Given the description of an element on the screen output the (x, y) to click on. 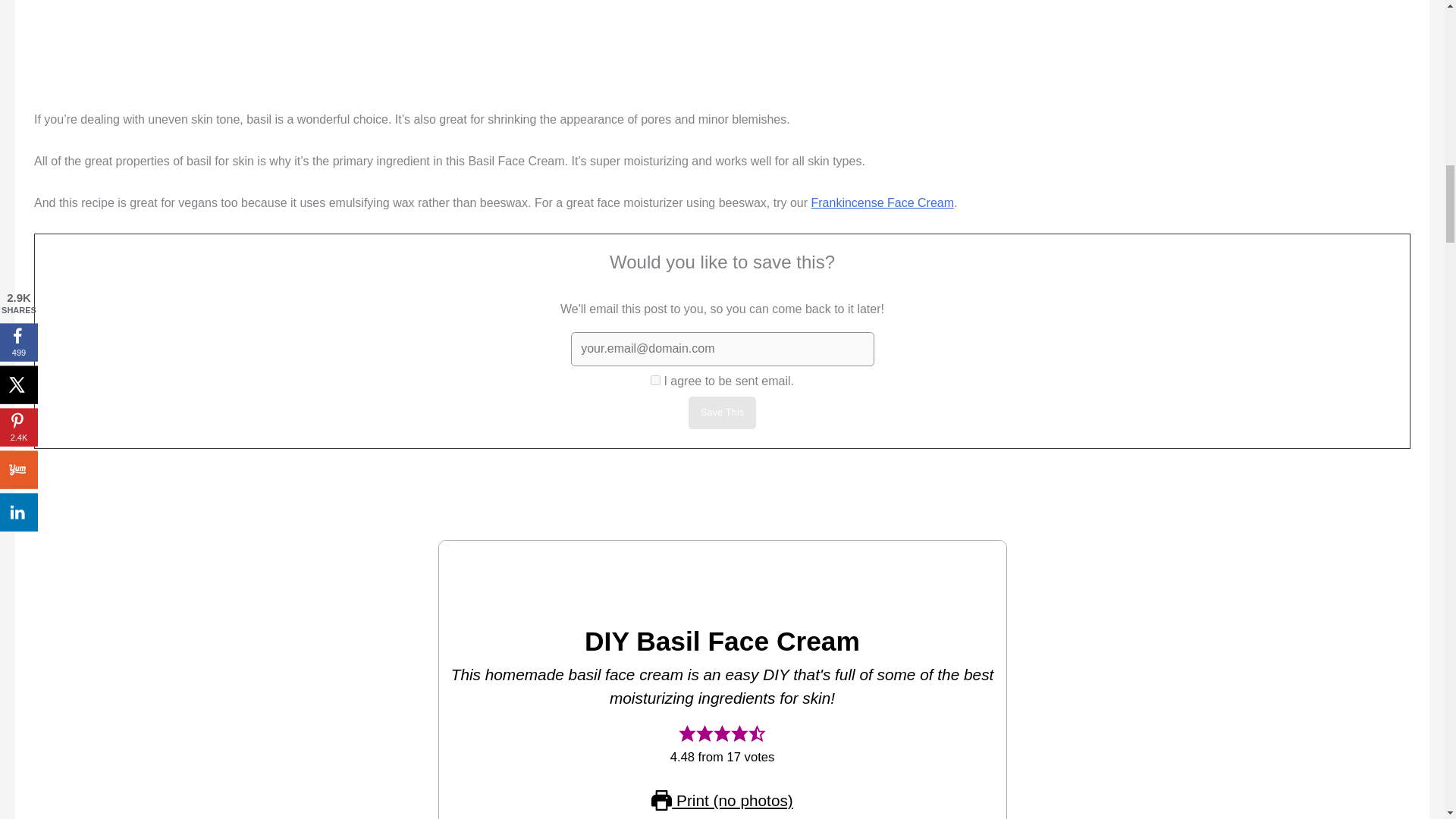
Save This (722, 412)
1 (655, 379)
